Given the description of an element on the screen output the (x, y) to click on. 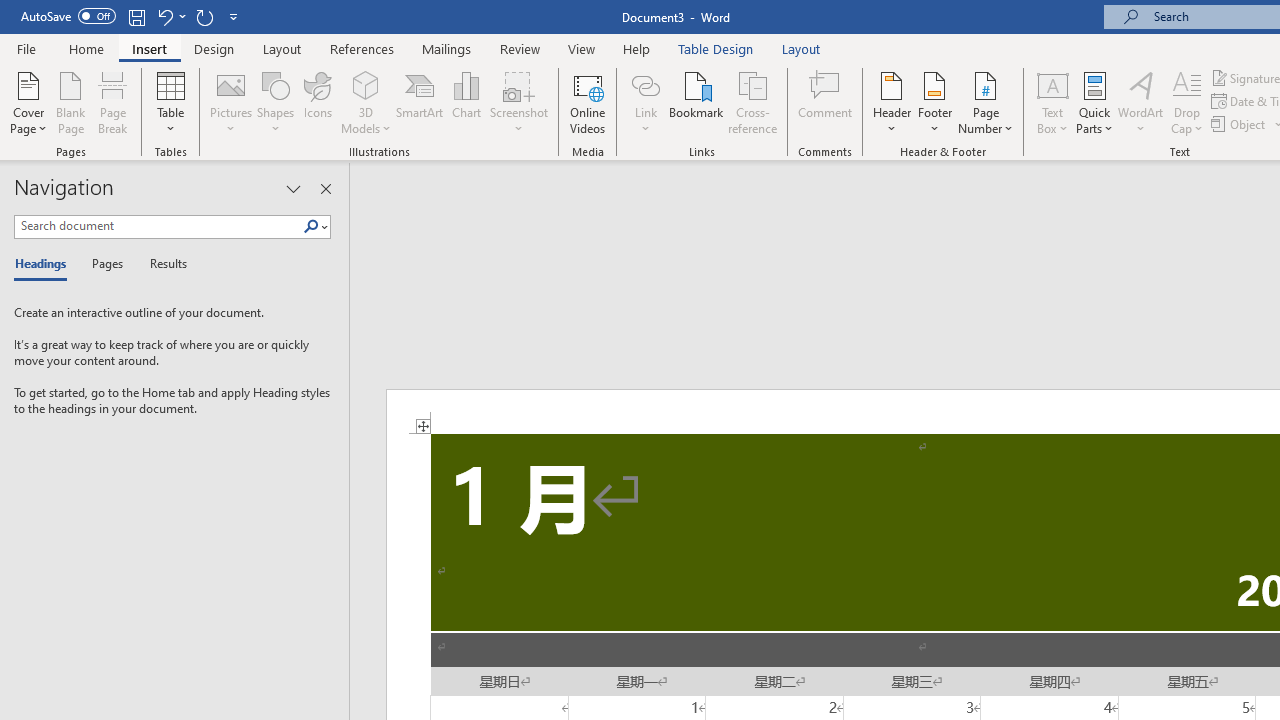
Drop Cap (1187, 102)
Blank Page (70, 102)
Page Number (986, 102)
Page Break (113, 102)
Bookmark... (695, 102)
Shapes (275, 102)
Cover Page (28, 102)
Online Videos... (588, 102)
Text Box (1052, 102)
